Given the description of an element on the screen output the (x, y) to click on. 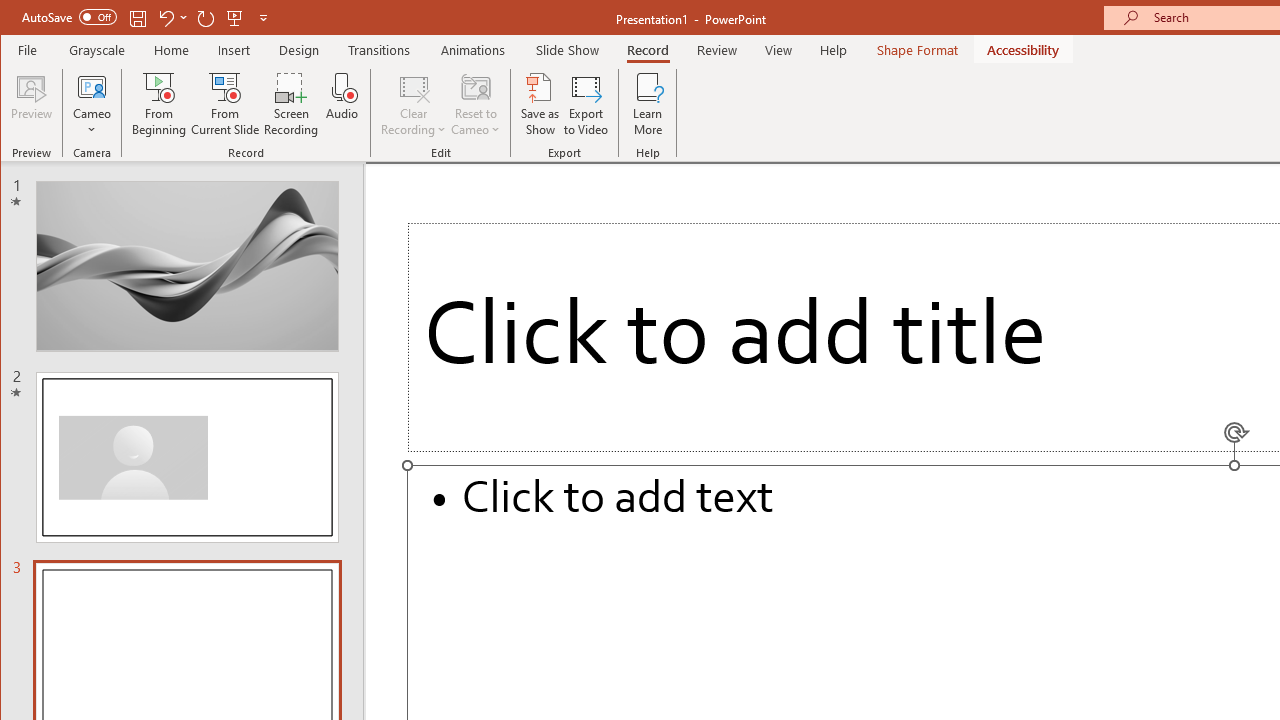
Grayscale (97, 50)
Clear Recording (413, 104)
Screen Recording (291, 104)
Export to Video (585, 104)
